Given the description of an element on the screen output the (x, y) to click on. 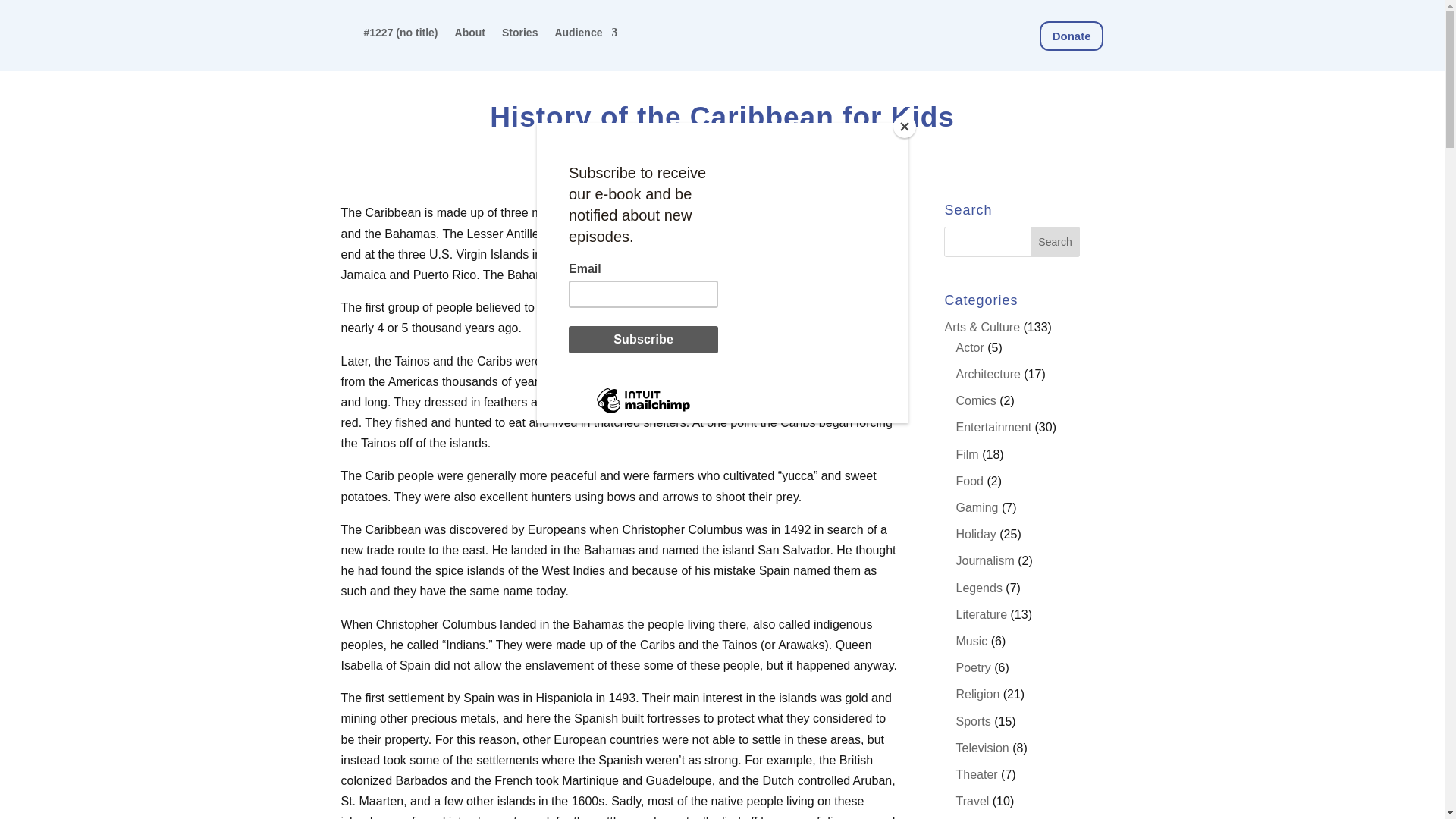
Music (971, 640)
Theater (976, 774)
Legends (978, 587)
Food (968, 481)
Donate (1071, 35)
Journalism (984, 560)
Architecture (987, 373)
Holiday (975, 533)
Film (966, 454)
Television (982, 748)
Sports (972, 721)
Actor (969, 347)
Poetry (972, 667)
Gaming (976, 507)
Search (1055, 241)
